Given the description of an element on the screen output the (x, y) to click on. 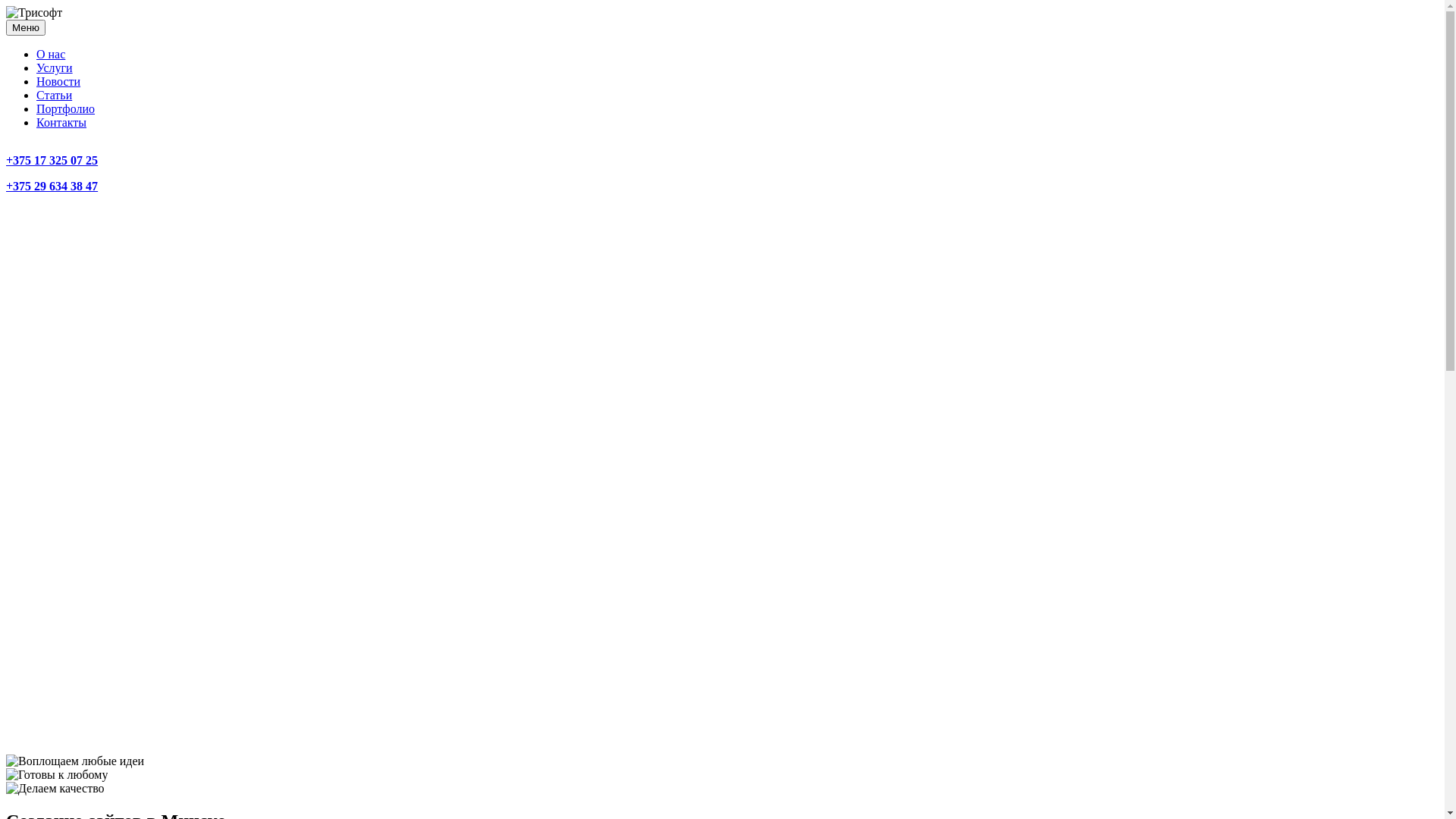
+375 29 634 38 47 Element type: text (51, 185)
+375 17 325 07 25 Element type: text (51, 159)
